Given the description of an element on the screen output the (x, y) to click on. 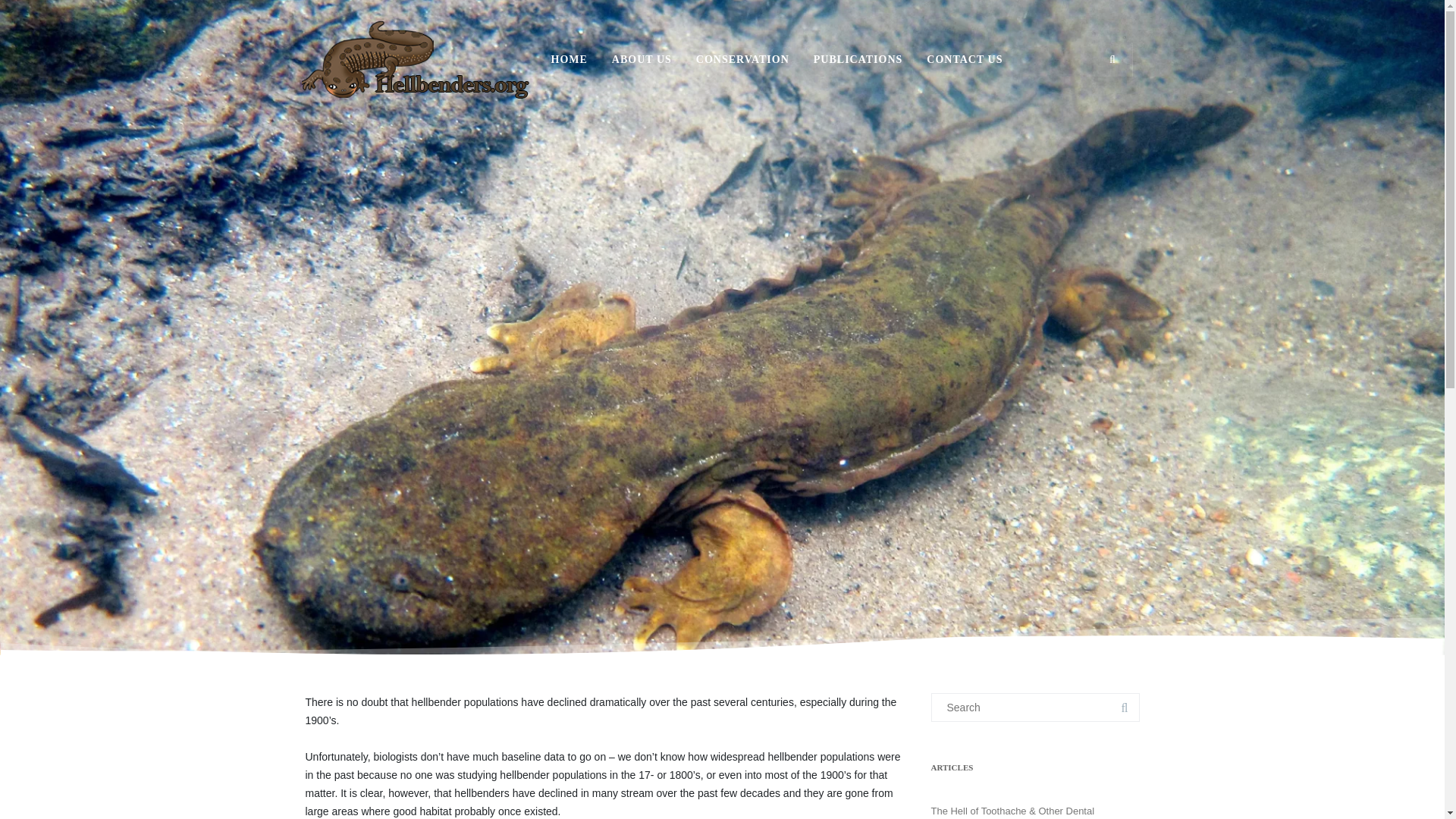
ABOUT US (640, 59)
PUBLICATIONS (858, 59)
Search for: (1035, 706)
CONTACT US (964, 59)
Hellbenders (415, 114)
CONSERVATION (742, 59)
HOME (569, 59)
